Given the description of an element on the screen output the (x, y) to click on. 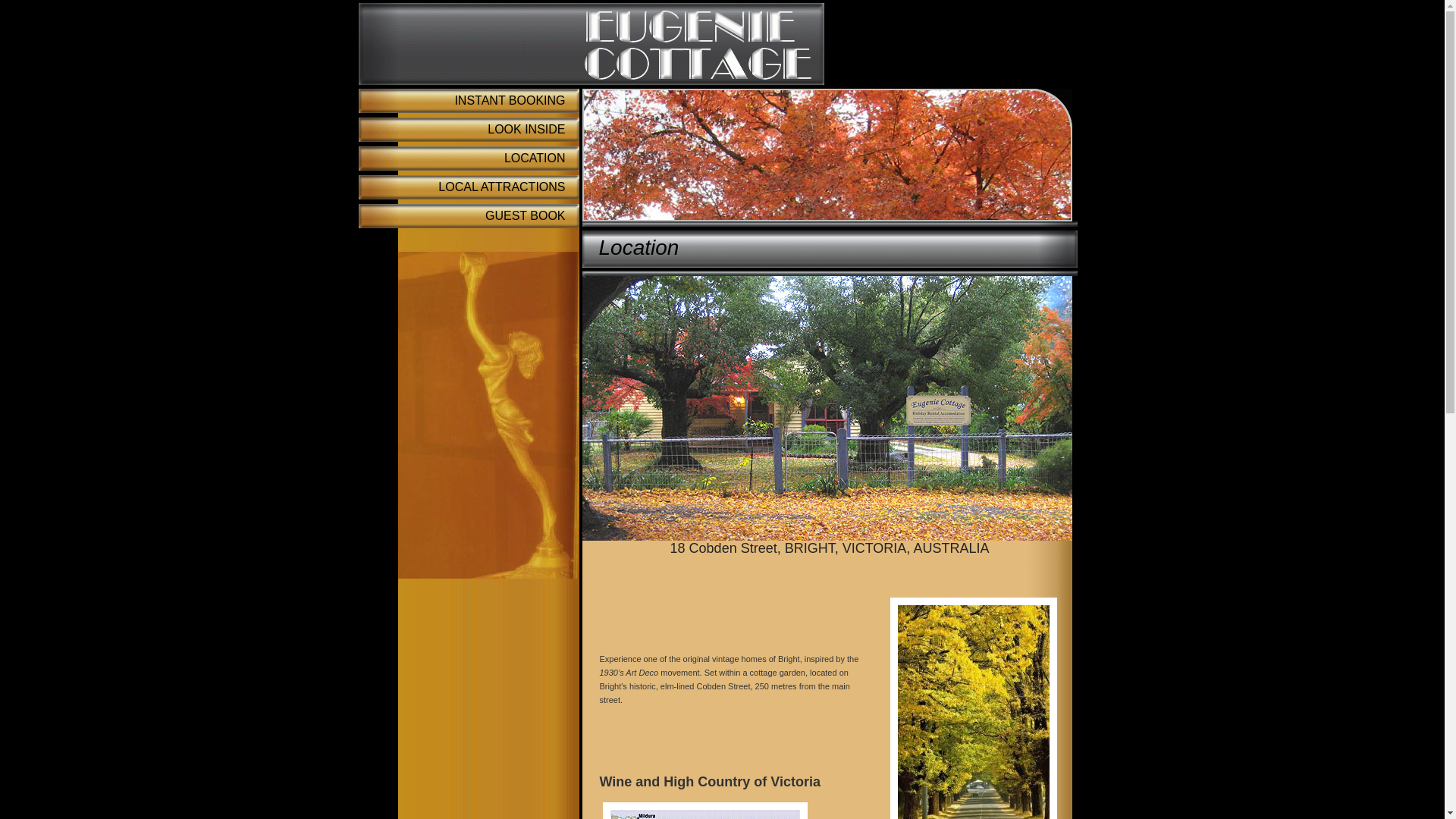
LOCATION Element type: text (467, 158)
INSTANT BOOKING Element type: text (467, 100)
LOCAL ATTRACTIONS Element type: text (467, 187)
GUEST BOOK Element type: text (467, 215)
LOOK INSIDE Element type: text (467, 129)
